Given the description of an element on the screen output the (x, y) to click on. 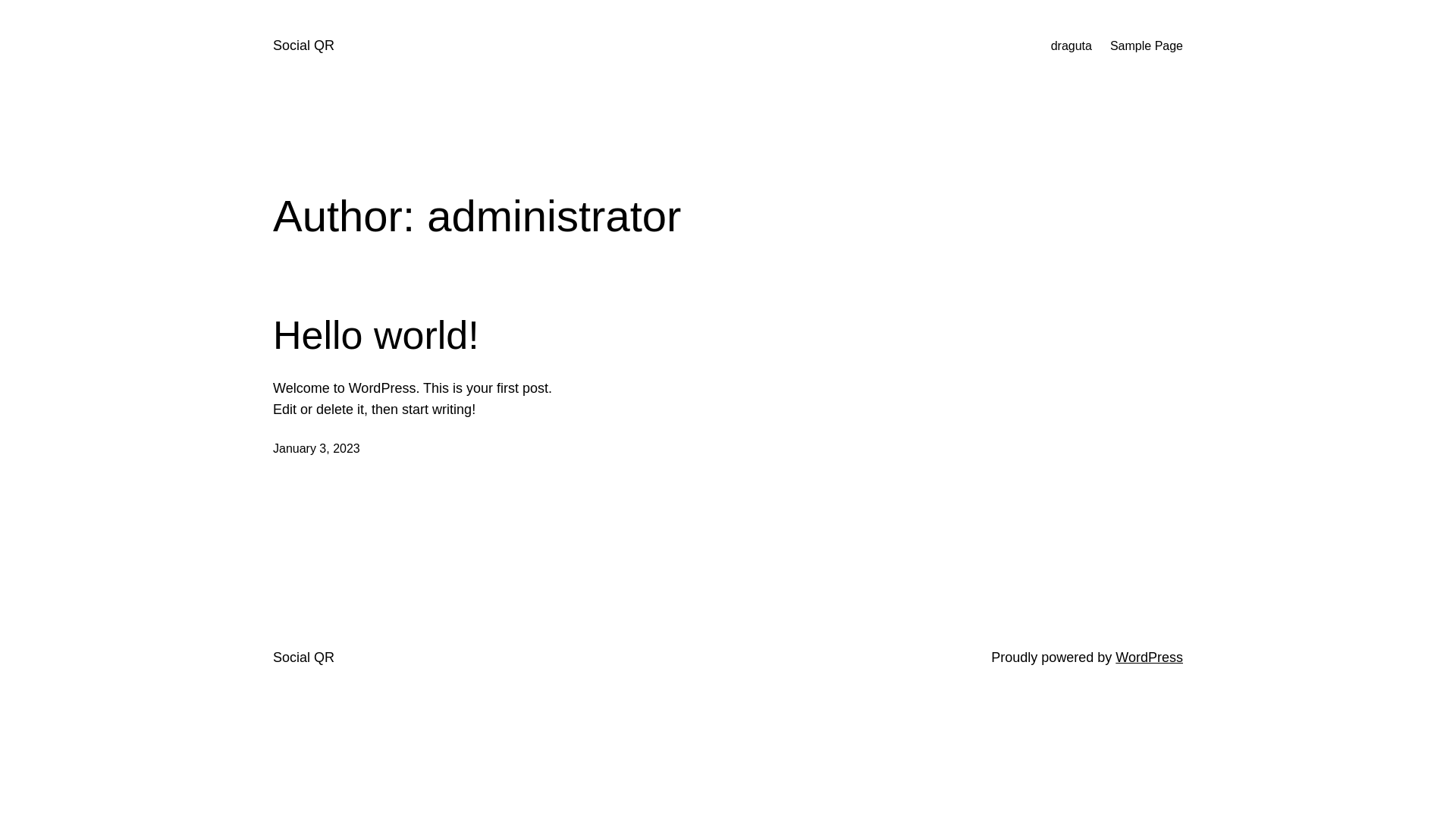
draguta Element type: text (1071, 46)
WordPress Element type: text (1149, 657)
Hello world! Element type: text (376, 334)
Social QR Element type: text (303, 657)
Sample Page Element type: text (1146, 46)
January 3, 2023 Element type: text (316, 448)
Social QR Element type: text (303, 45)
